Given the description of an element on the screen output the (x, y) to click on. 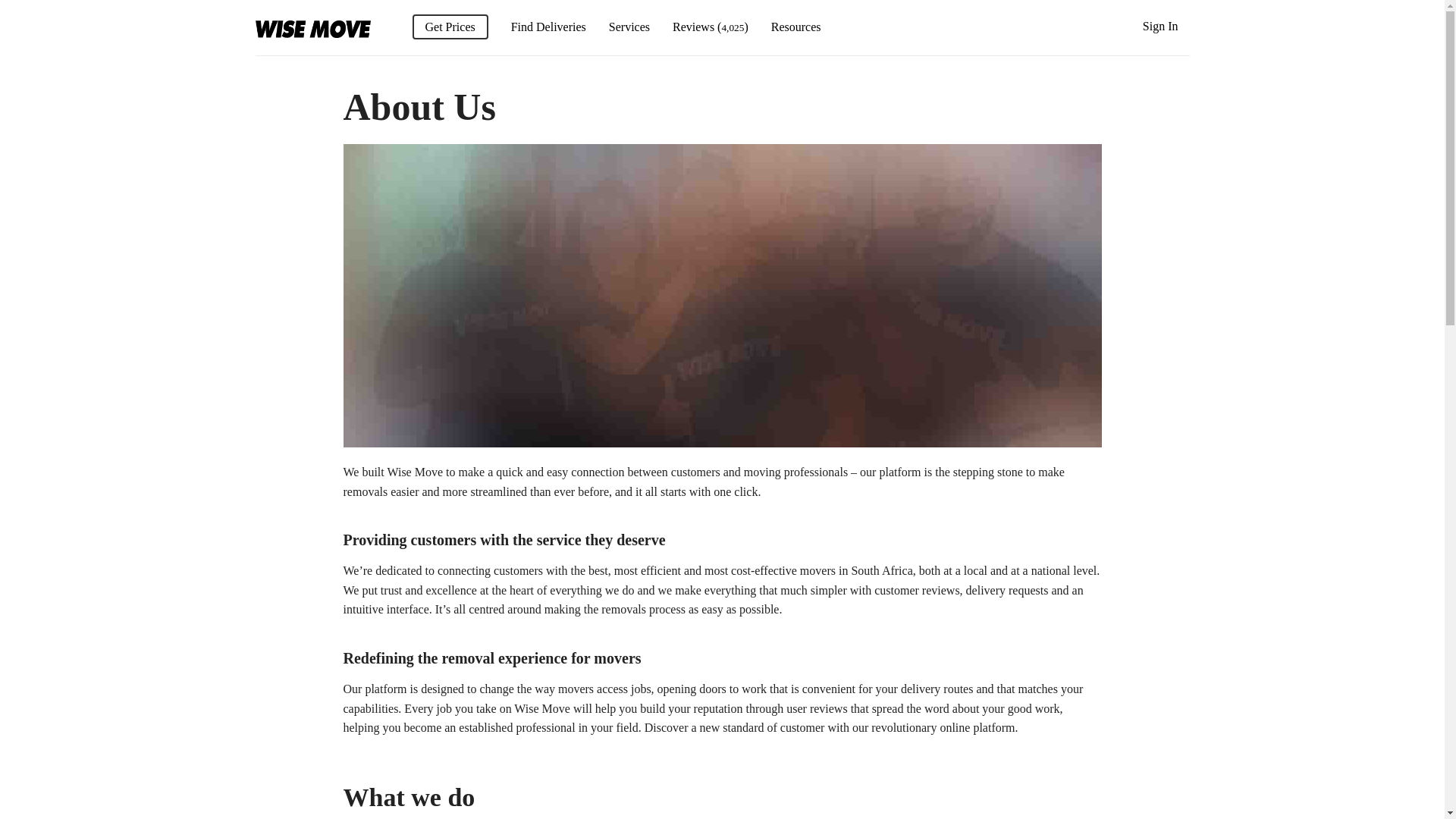
Find Deliveries (548, 26)
Services (628, 26)
Get Prices (449, 26)
